Given the description of an element on the screen output the (x, y) to click on. 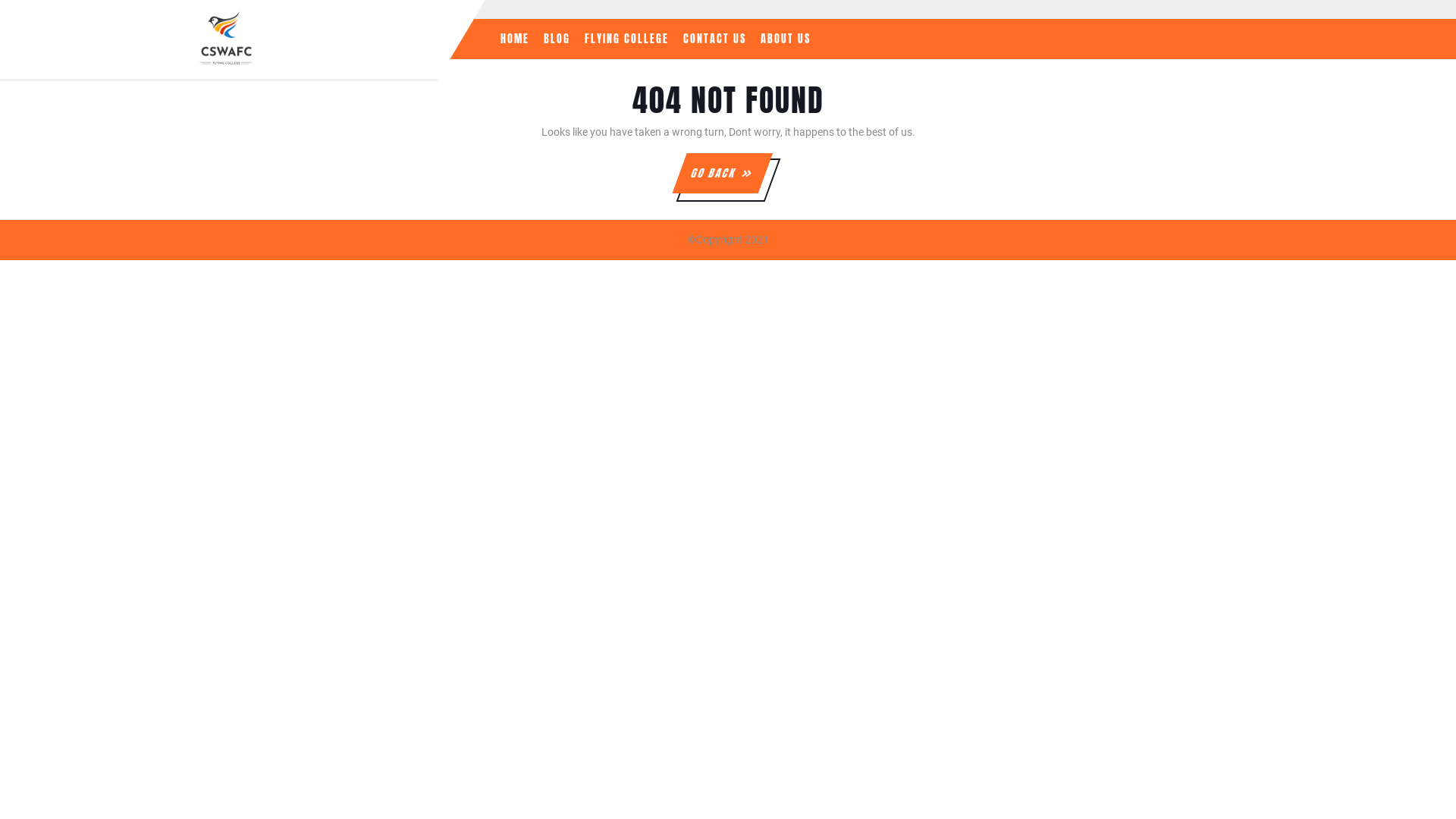
FLYING COLLEGE Element type: text (626, 39)
BLOG Element type: text (556, 39)
CONTACT US Element type: text (714, 39)
HOME Element type: text (514, 39)
ABOUT US Element type: text (785, 39)
GO BACK
GO BACK Element type: text (714, 173)
